Given the description of an element on the screen output the (x, y) to click on. 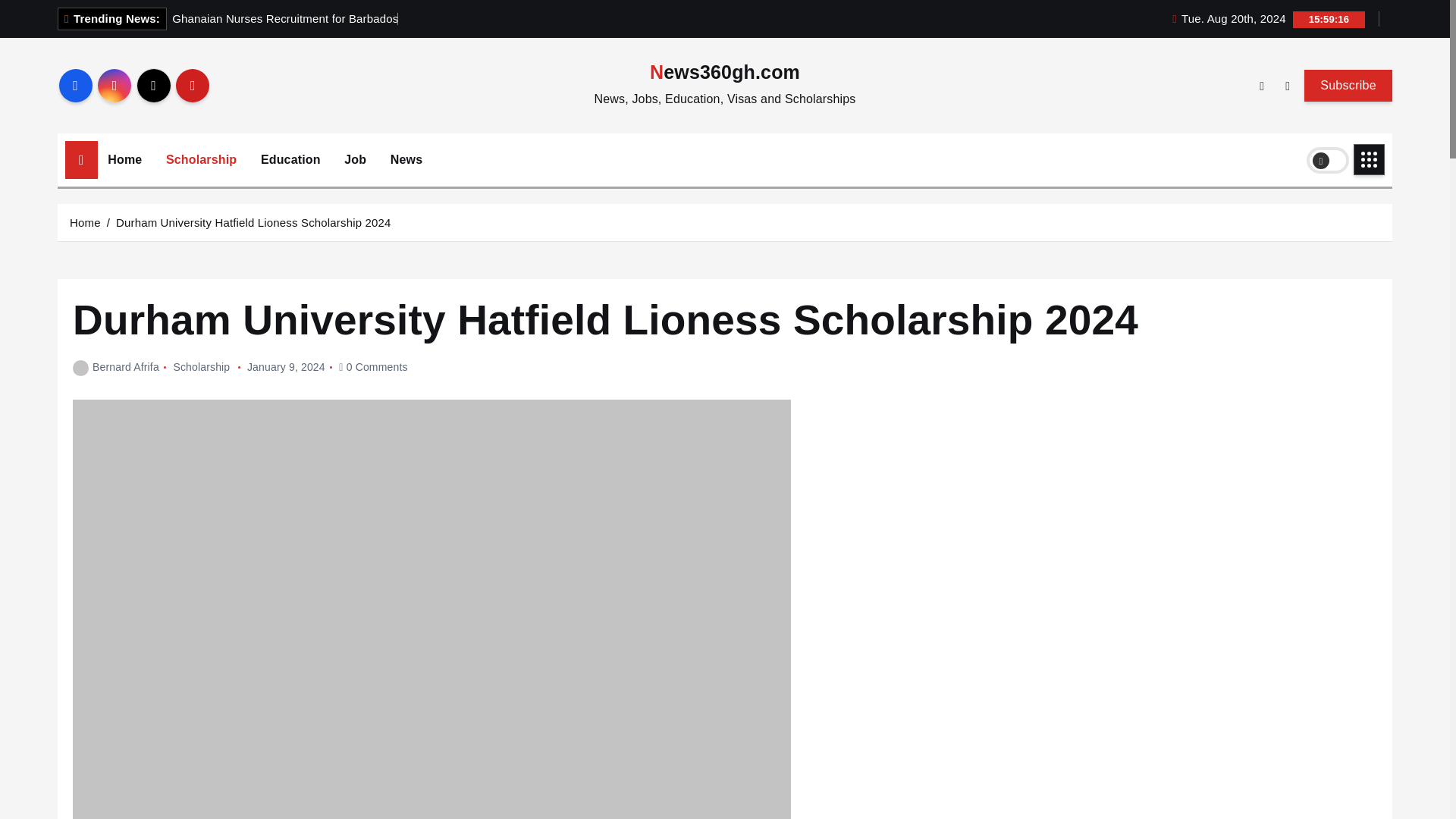
News (406, 159)
News360gh.com (724, 71)
Home (124, 159)
Subscribe (1347, 85)
Scholarship (200, 159)
Job (354, 159)
Education (290, 159)
News (406, 159)
Job (354, 159)
Home (124, 159)
